Given the description of an element on the screen output the (x, y) to click on. 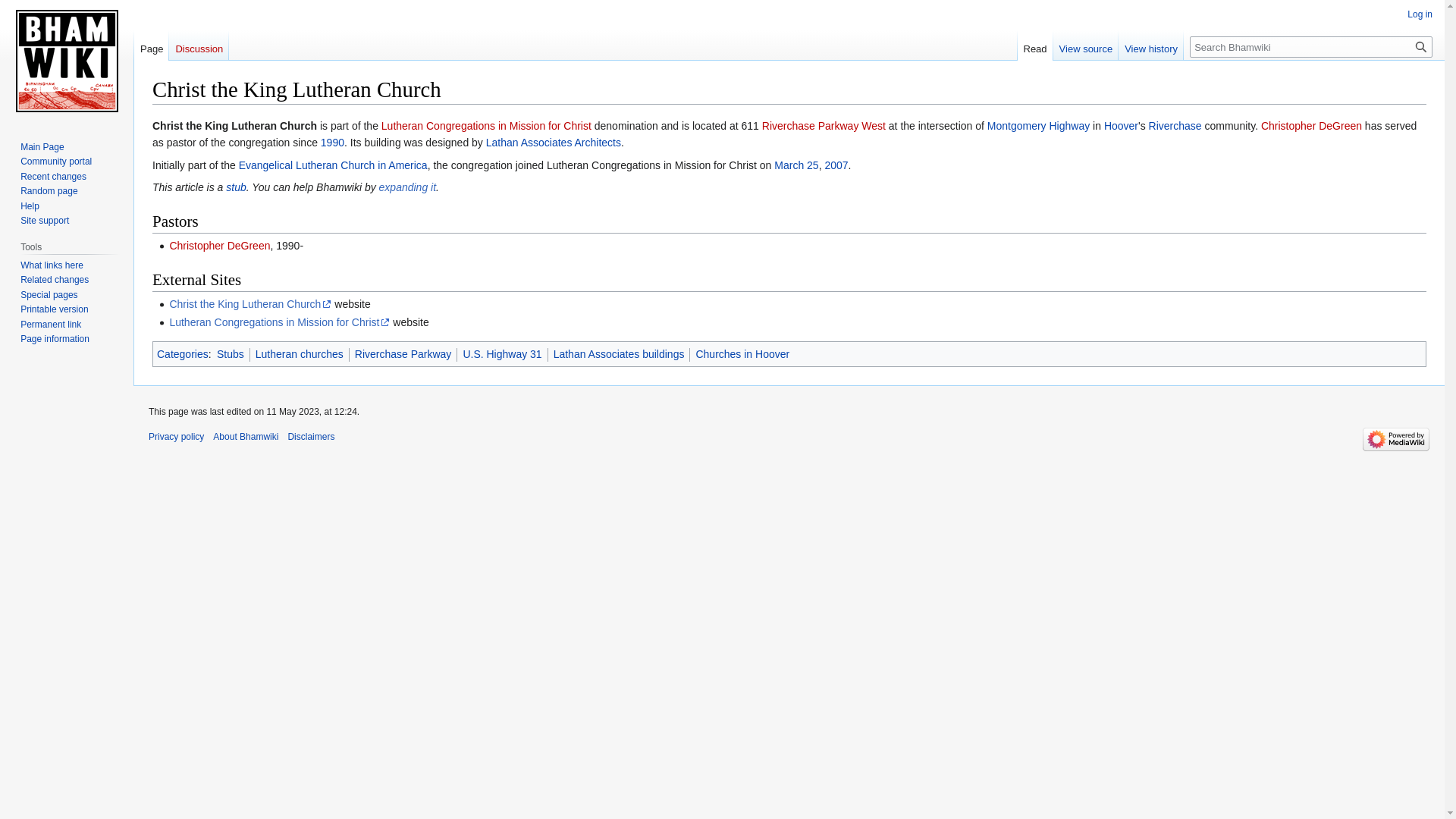
Category:Riverchase Parkway (403, 354)
Category:Stubs (230, 354)
U.S. Highway 31 (502, 354)
Christopher DeGreen (218, 245)
Evangelical Lutheran Church in America (333, 164)
Lutheran Congregations in Mission for Christ (486, 125)
stub (235, 186)
Stubs (230, 354)
Riverchase (1175, 125)
2007 (835, 164)
Christ the King Lutheran Church (249, 304)
Read (1034, 45)
Special:Categories (182, 354)
Montgomery Highway (1038, 125)
Churches in Hoover (742, 354)
